Given the description of an element on the screen output the (x, y) to click on. 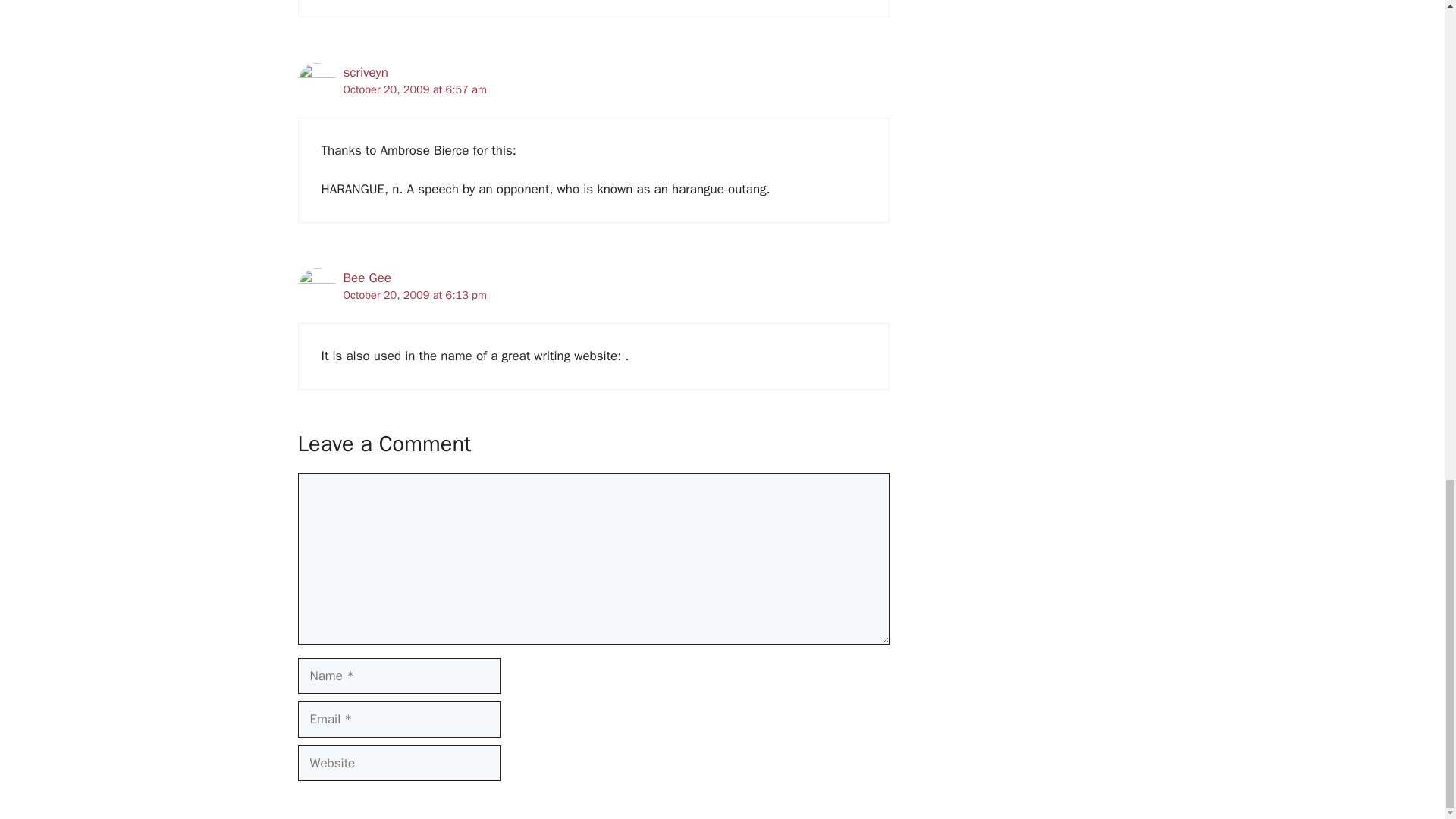
scriveyn (364, 72)
October 20, 2009 at 6:57 am (414, 89)
Bee Gee (366, 277)
October 20, 2009 at 6:13 pm (414, 295)
